Given the description of an element on the screen output the (x, y) to click on. 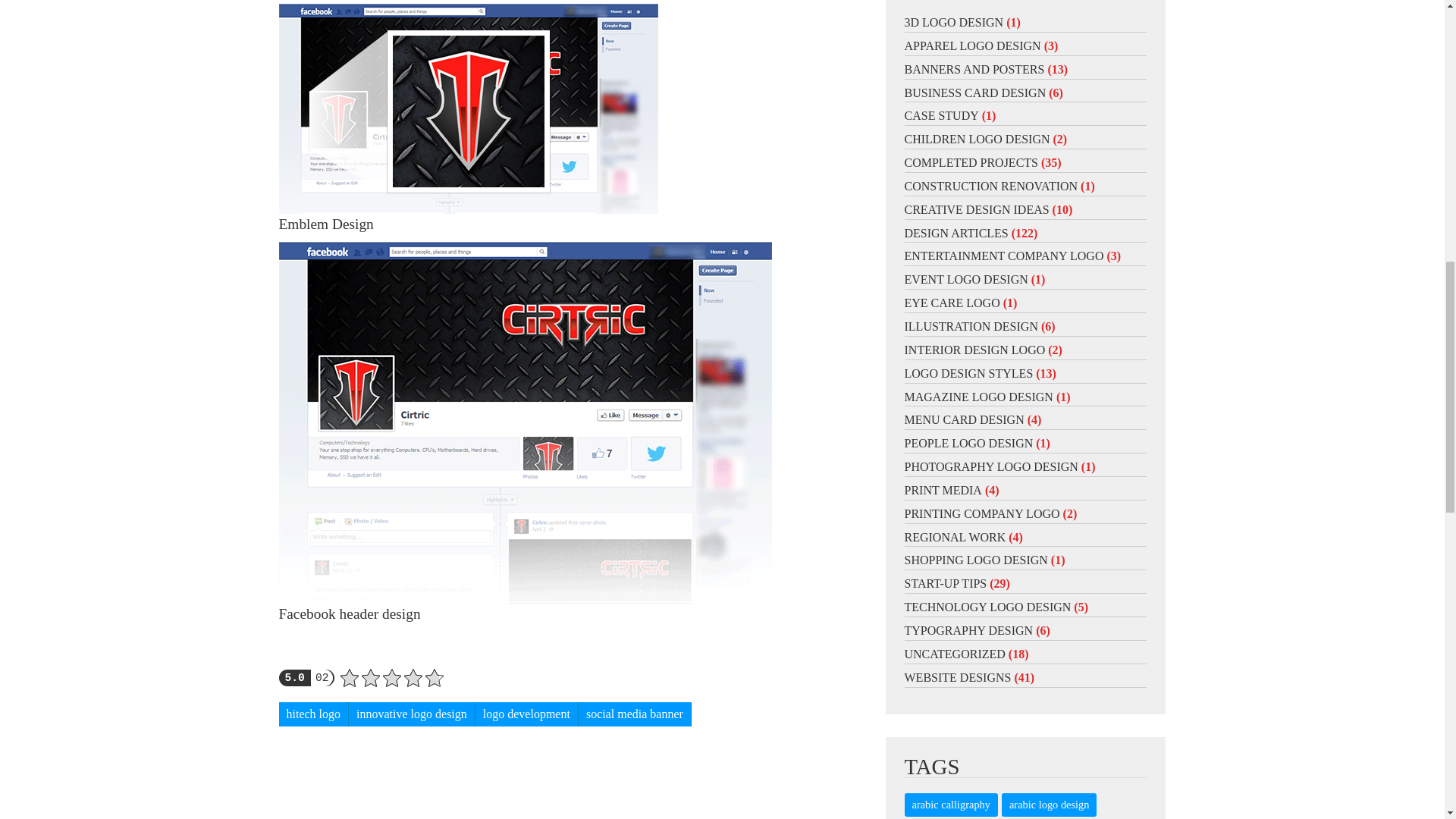
COMPLETED PROJECTS (970, 162)
social media banner (634, 714)
APPAREL LOGO DESIGN (972, 45)
3D LOGO DESIGN (953, 21)
Emblem Design (468, 108)
innovative logo design (412, 714)
CASE STUDY (941, 115)
CHILDREN LOGO DESIGN (976, 138)
hitech logo (314, 714)
